Given the description of an element on the screen output the (x, y) to click on. 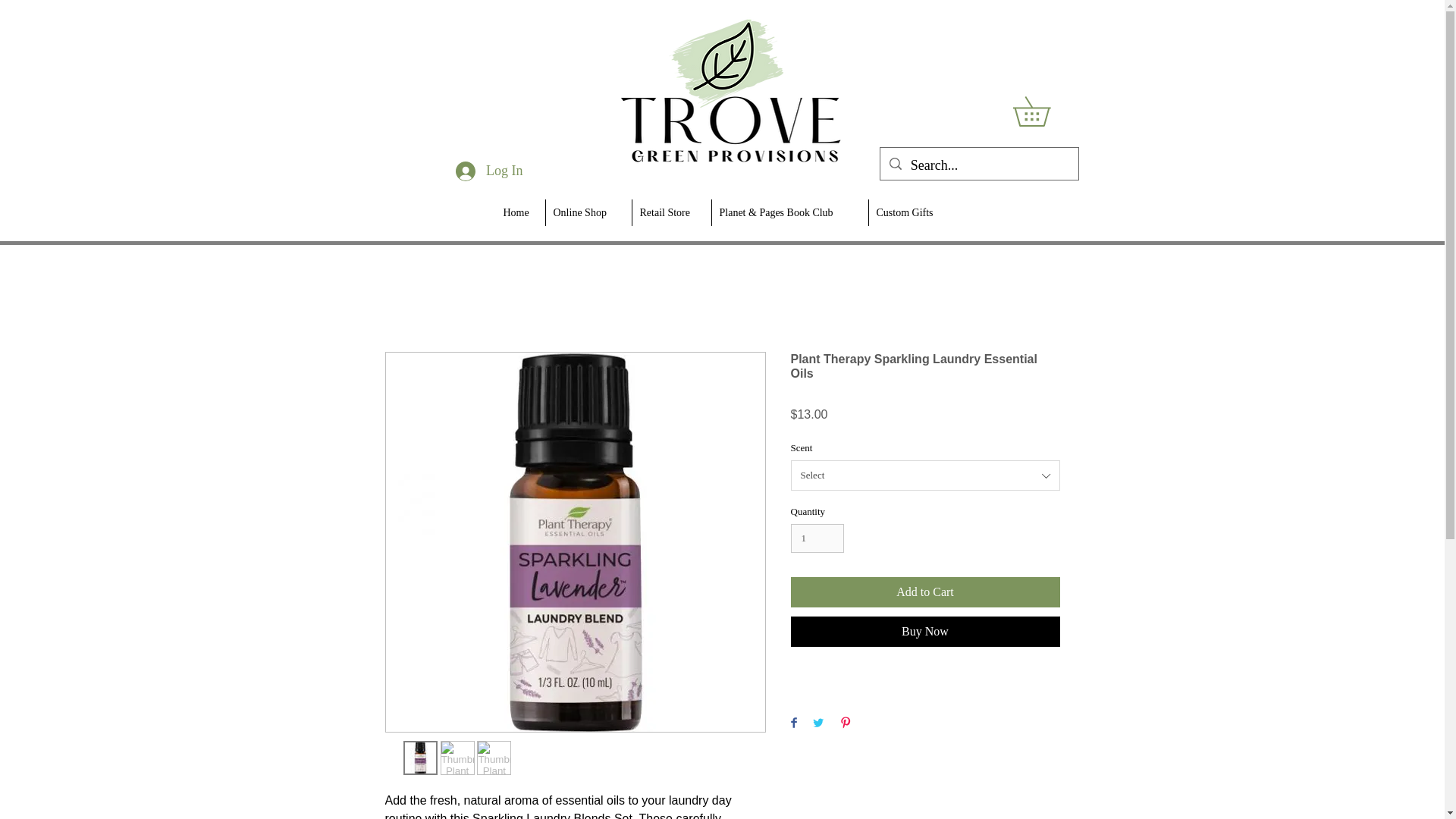
Retail Store (670, 212)
Home (520, 212)
Add to Cart (924, 592)
Custom Gifts (910, 212)
Buy Now (924, 631)
Log In (489, 171)
Select (924, 475)
1 (817, 538)
Online Shop (587, 212)
